Given the description of an element on the screen output the (x, y) to click on. 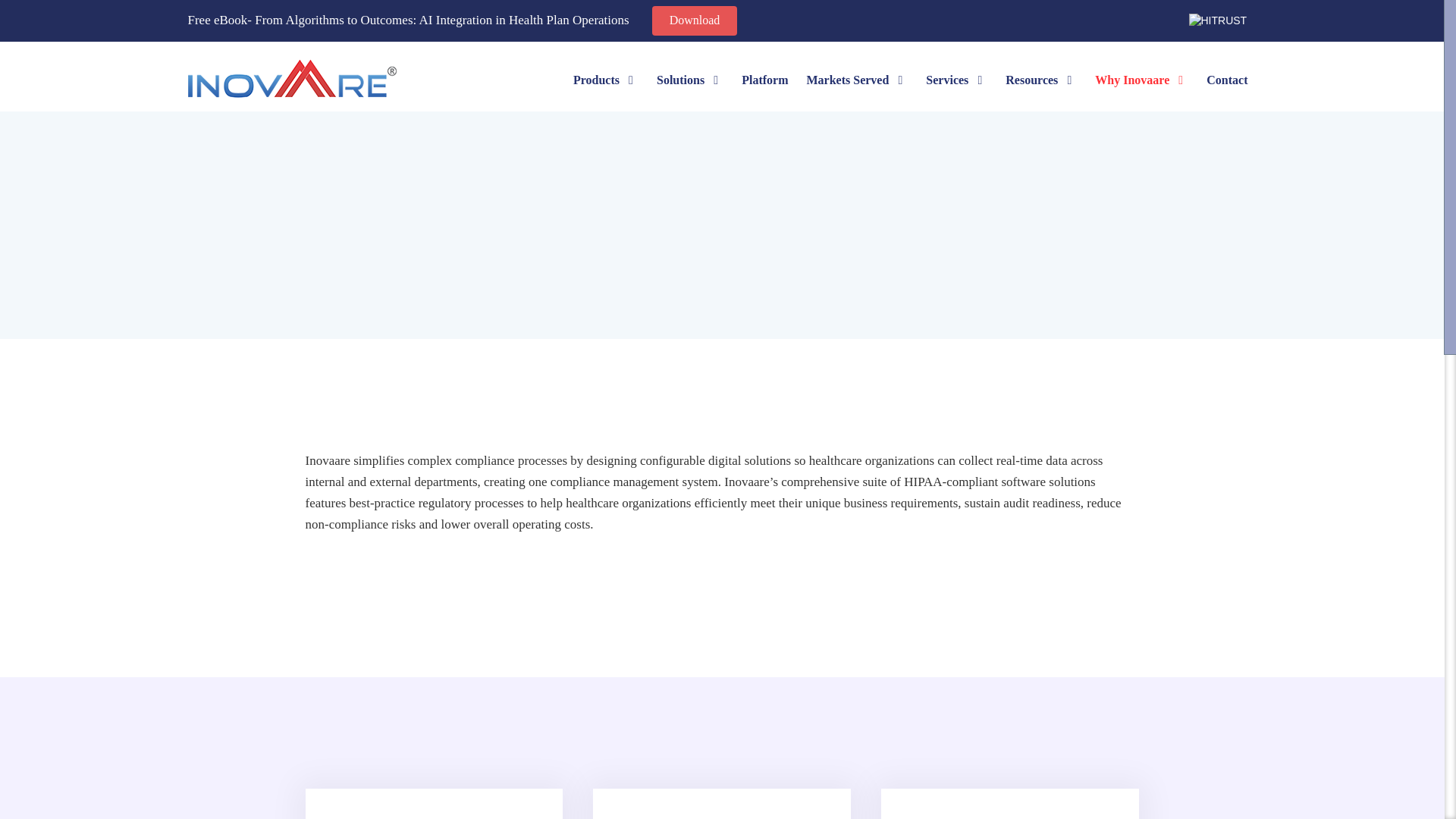
Products (606, 78)
Services (956, 78)
Platform (764, 78)
Markets Served (856, 78)
Download (695, 20)
Solutions (689, 78)
